Given the description of an element on the screen output the (x, y) to click on. 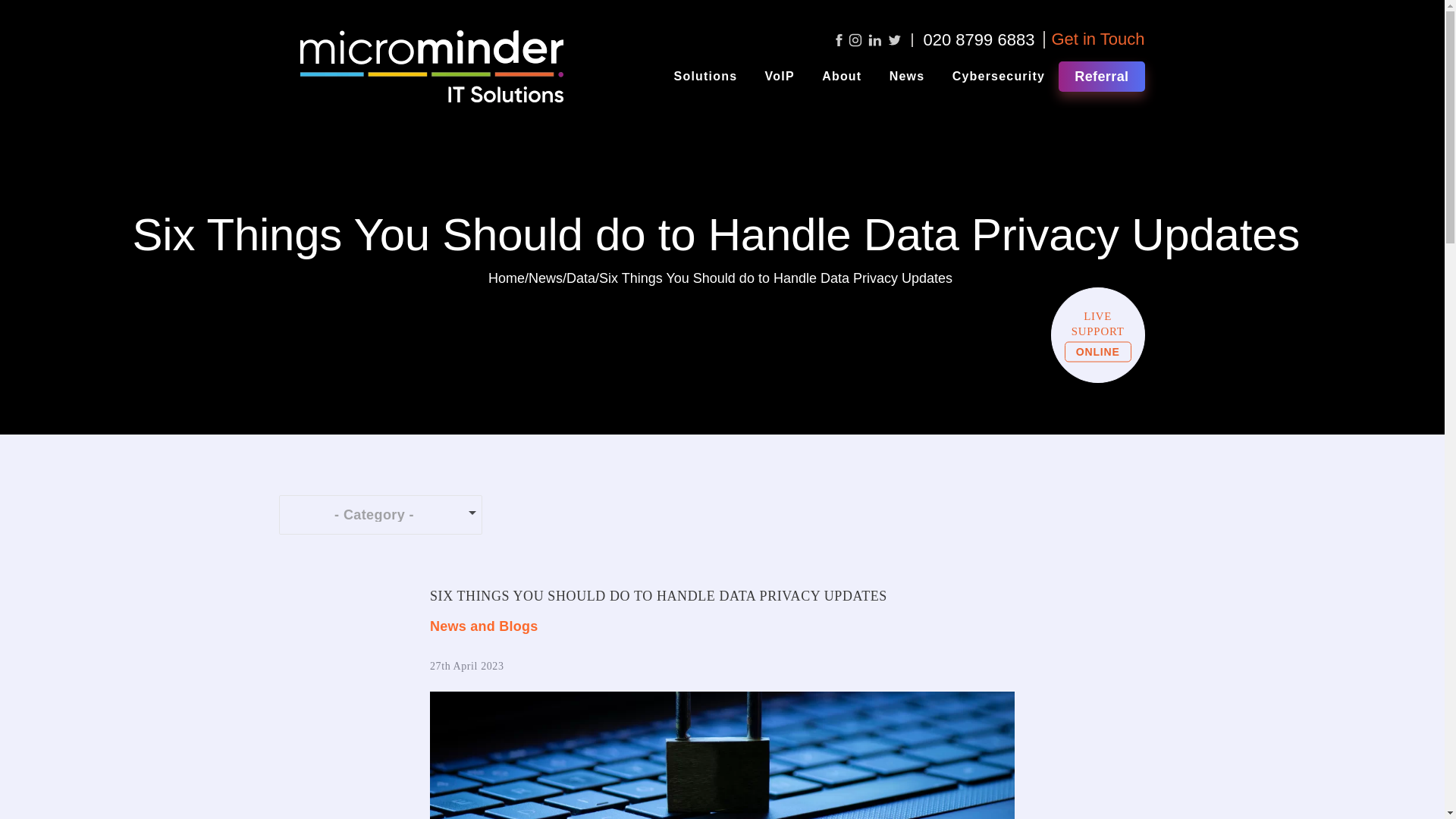
Solutions (705, 76)
Microminder Cybersecurity (999, 76)
Referral (1101, 76)
ONLINE (1097, 352)
Cybersecurity (999, 76)
Get in Touch (1097, 38)
News (907, 76)
Data (580, 277)
VoIP (779, 76)
About (842, 76)
